Given the description of an element on the screen output the (x, y) to click on. 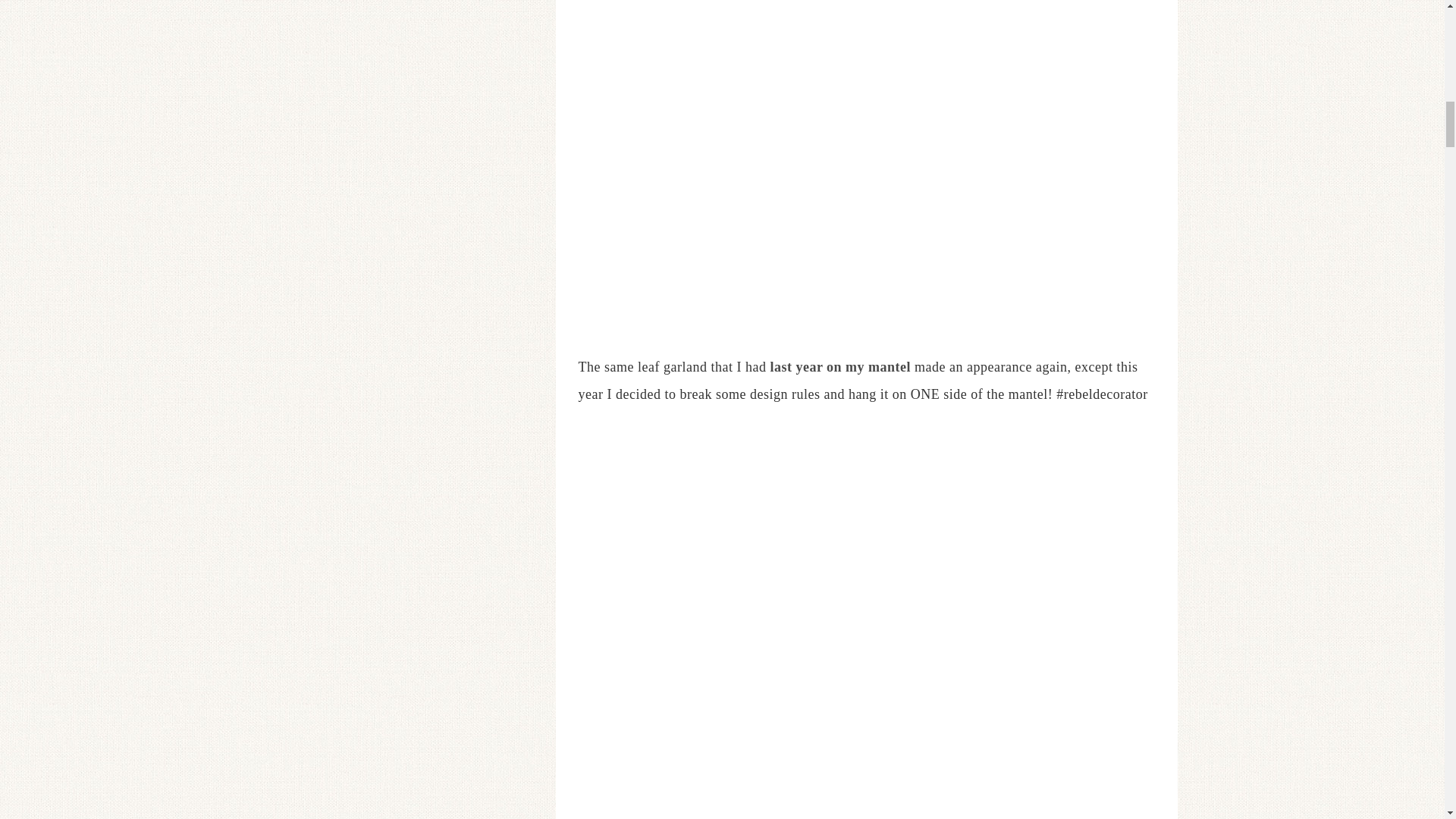
last year on my mantel (840, 366)
